Given the description of an element on the screen output the (x, y) to click on. 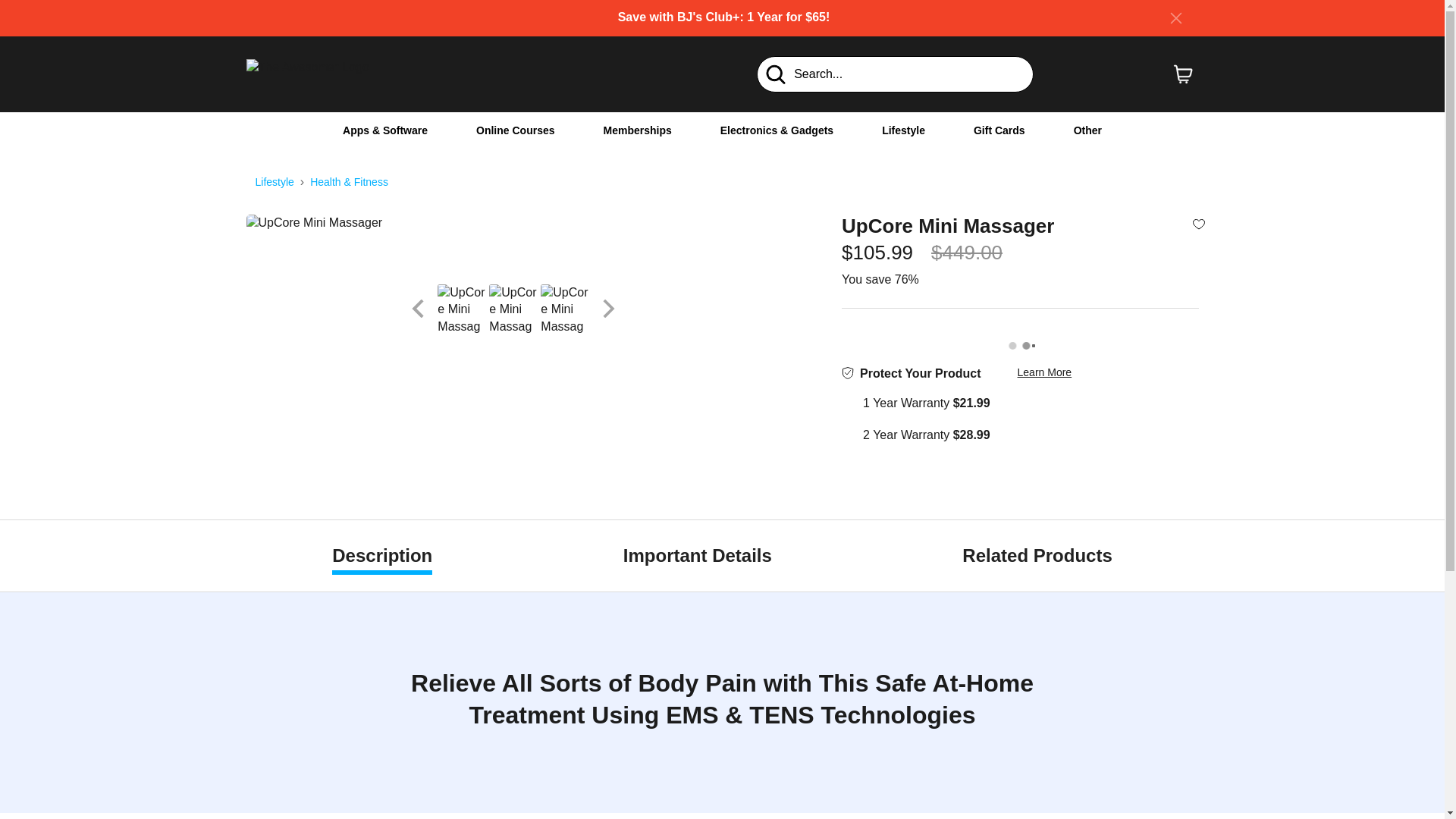
Add to wishlist (1198, 223)
